Given the description of an element on the screen output the (x, y) to click on. 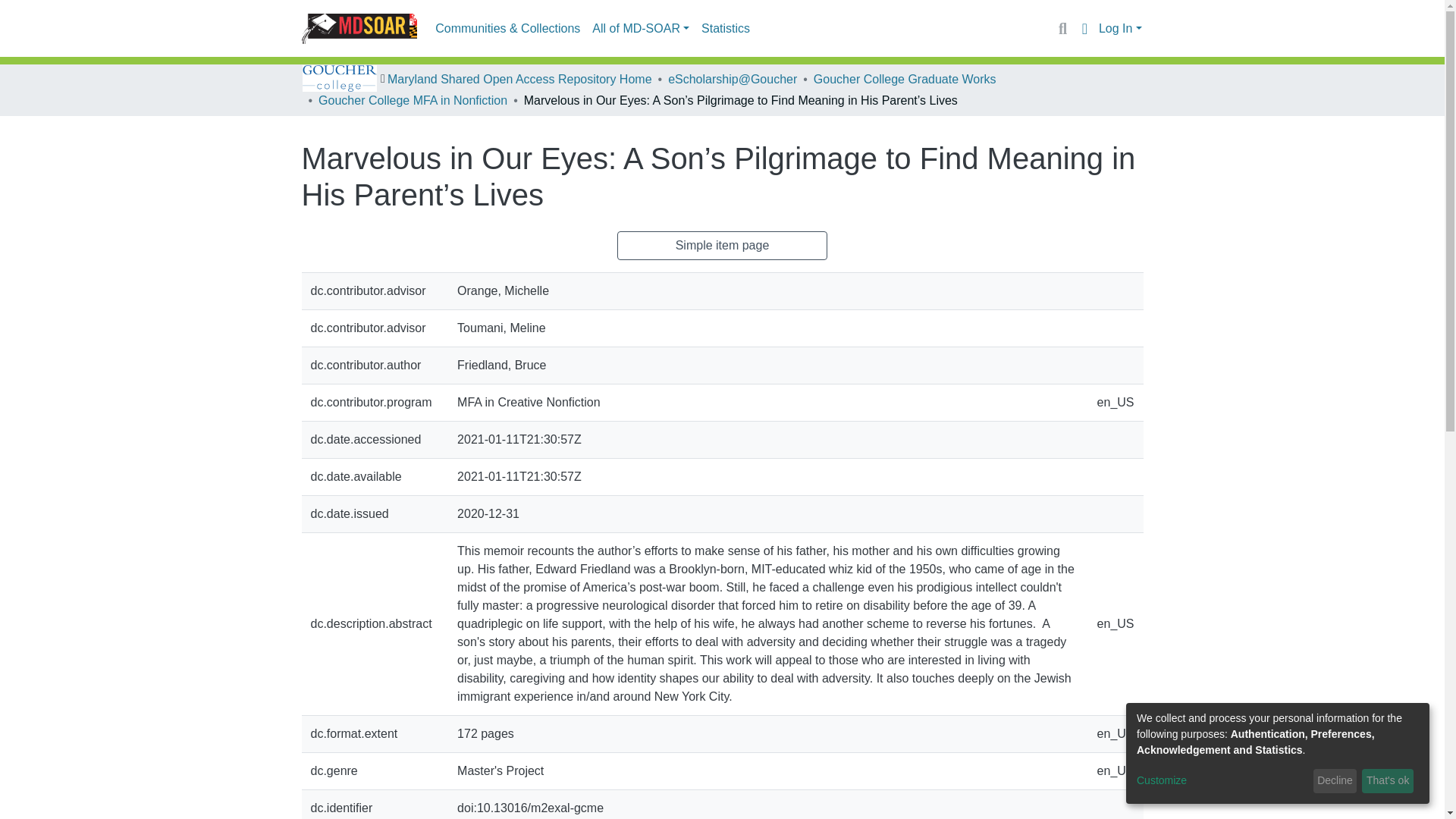
Maryland Shared Open Access Repository Home (519, 78)
That's ok (1387, 781)
Simple item page (722, 245)
Goucher College MFA in Nonfiction (412, 100)
Search (1061, 28)
Language switch (1084, 28)
Decline (1334, 781)
Statistics (725, 28)
Statistics (725, 28)
Log In (1119, 28)
Goucher College Graduate Works (904, 78)
Customize (1222, 780)
All of MD-SOAR (640, 28)
